Given the description of an element on the screen output the (x, y) to click on. 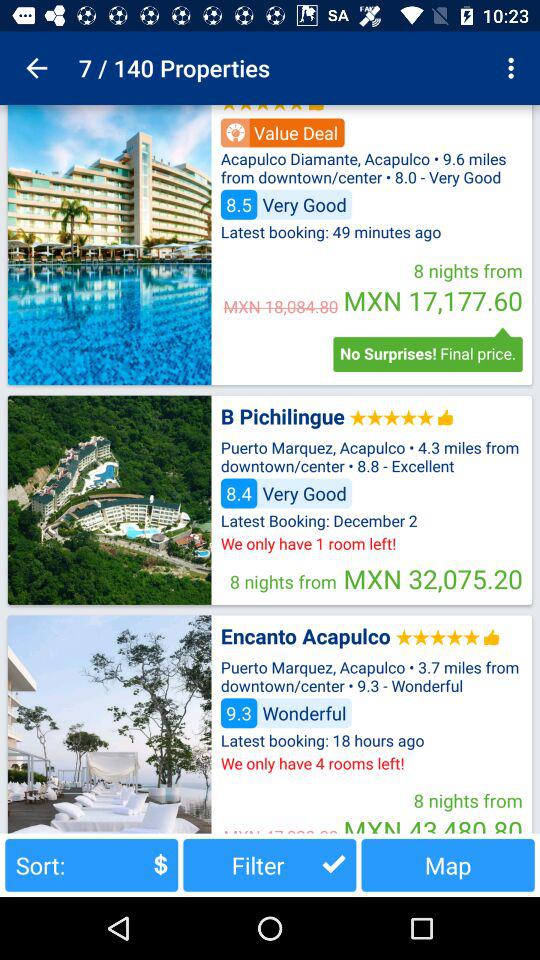
open app to the left of the 7 / 140 properties icon (36, 68)
